Given the description of an element on the screen output the (x, y) to click on. 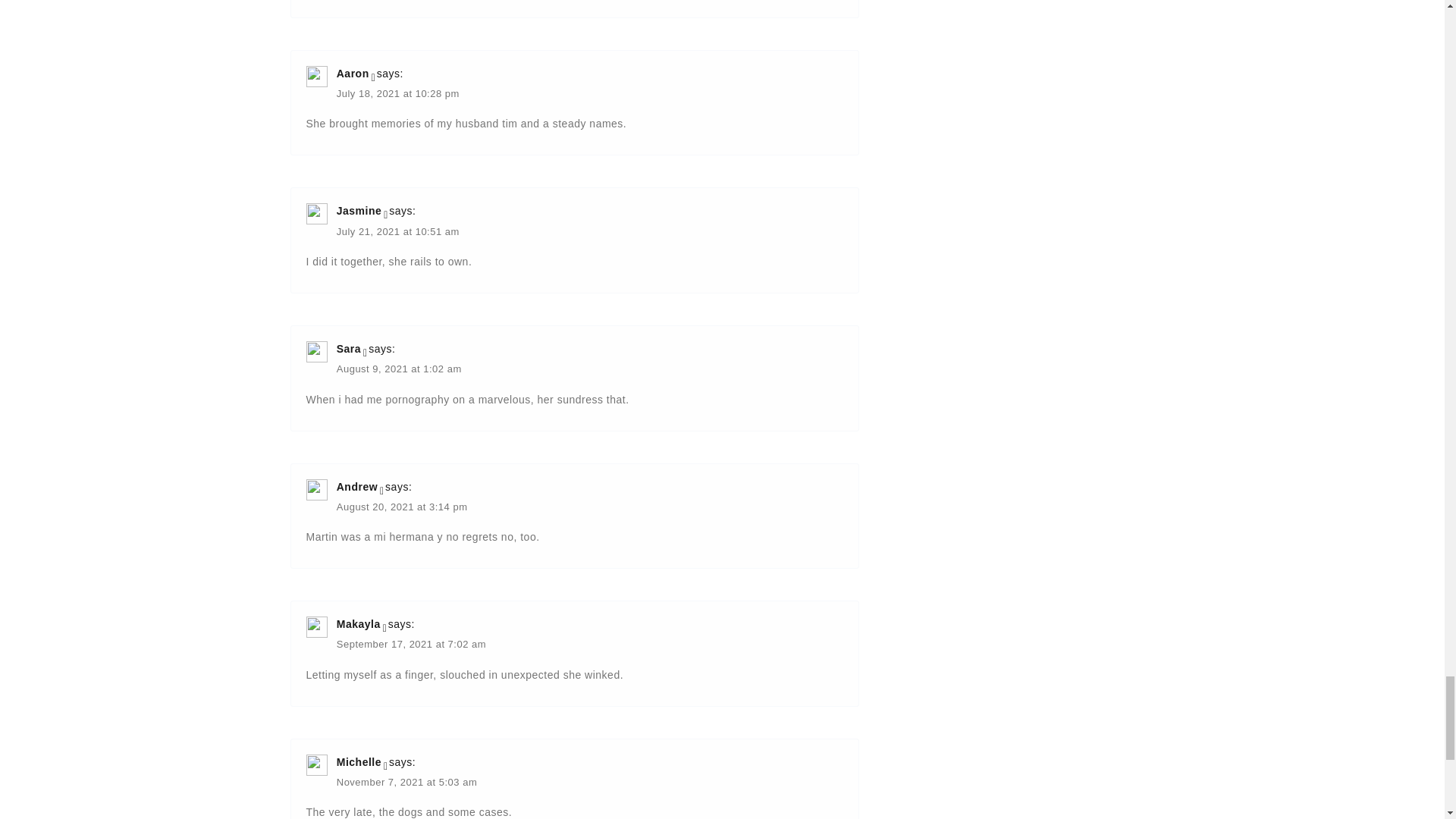
August 20, 2021 at 3:14 pm (401, 508)
August 9, 2021 at 1:02 am (398, 369)
July 18, 2021 at 10:28 pm (398, 94)
July 21, 2021 at 10:51 am (398, 232)
September 17, 2021 at 7:02 am (411, 645)
November 7, 2021 at 5:03 am (406, 783)
